Given the description of an element on the screen output the (x, y) to click on. 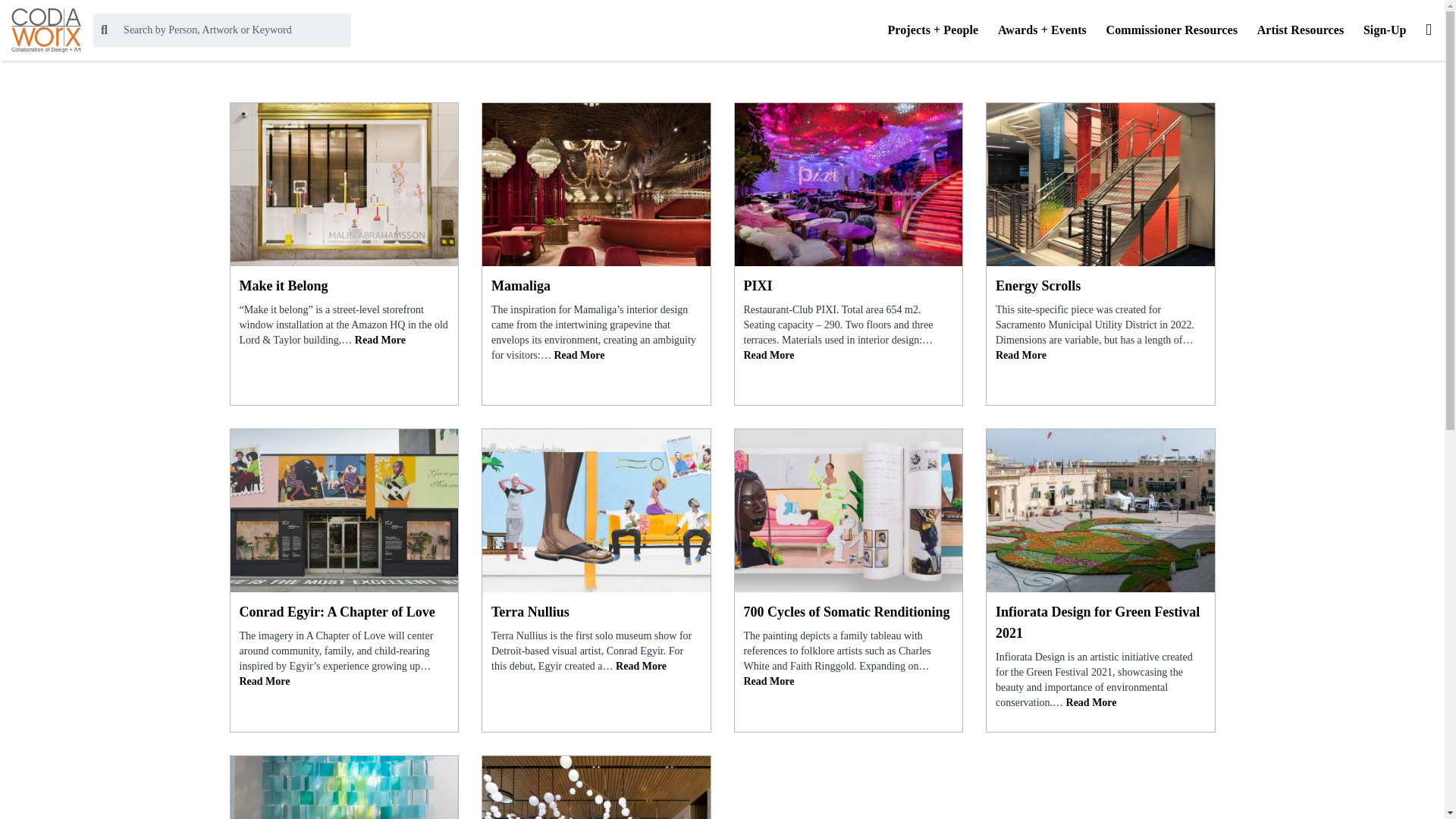
Artist Resources (1300, 30)
Sign-Up (1384, 30)
Commissioner Resources (1171, 30)
Make it Belong (344, 285)
Read More (380, 339)
Commissioner Resources (1171, 30)
